Given the description of an element on the screen output the (x, y) to click on. 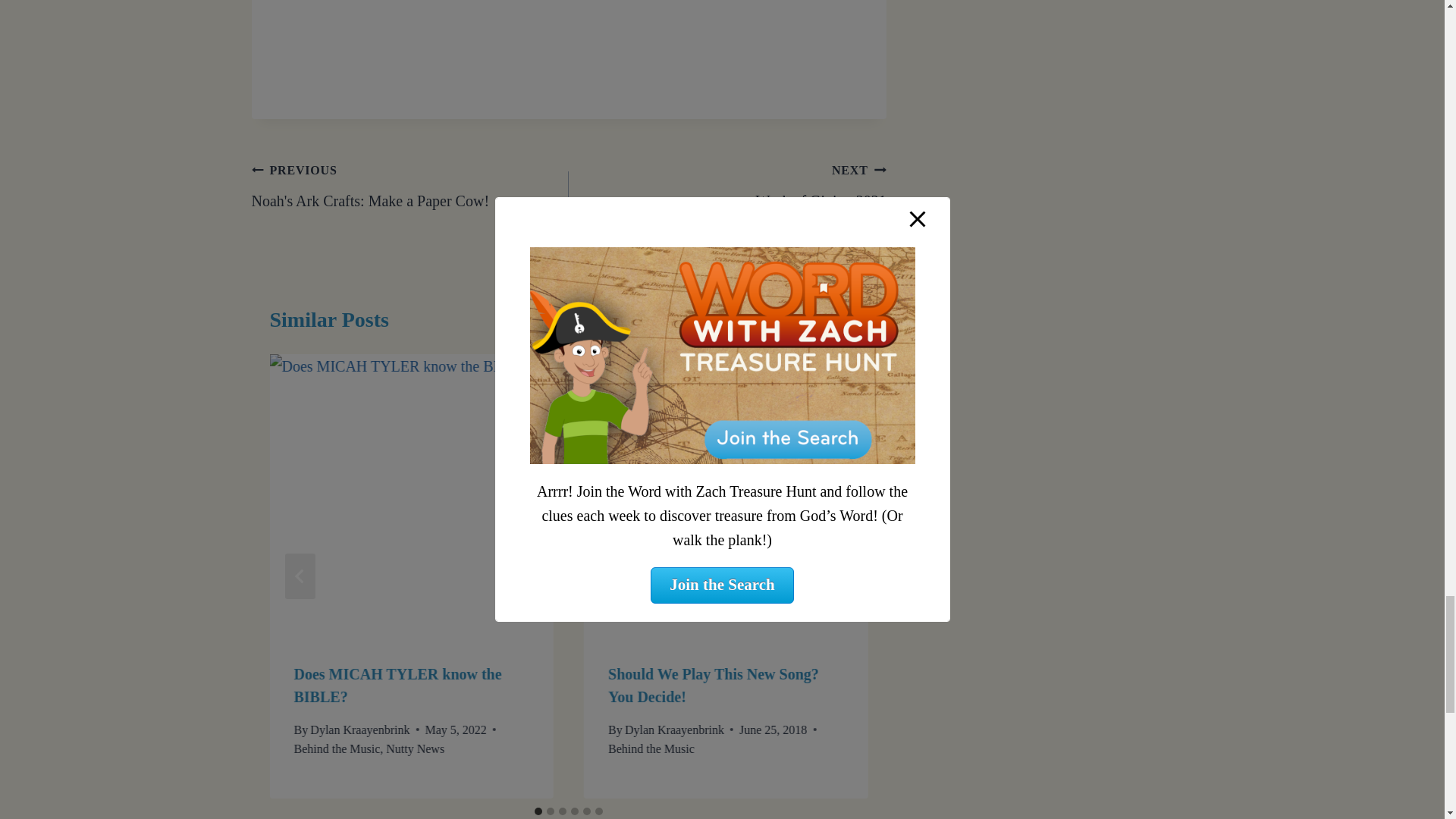
YouTube video player (727, 184)
